Given the description of an element on the screen output the (x, y) to click on. 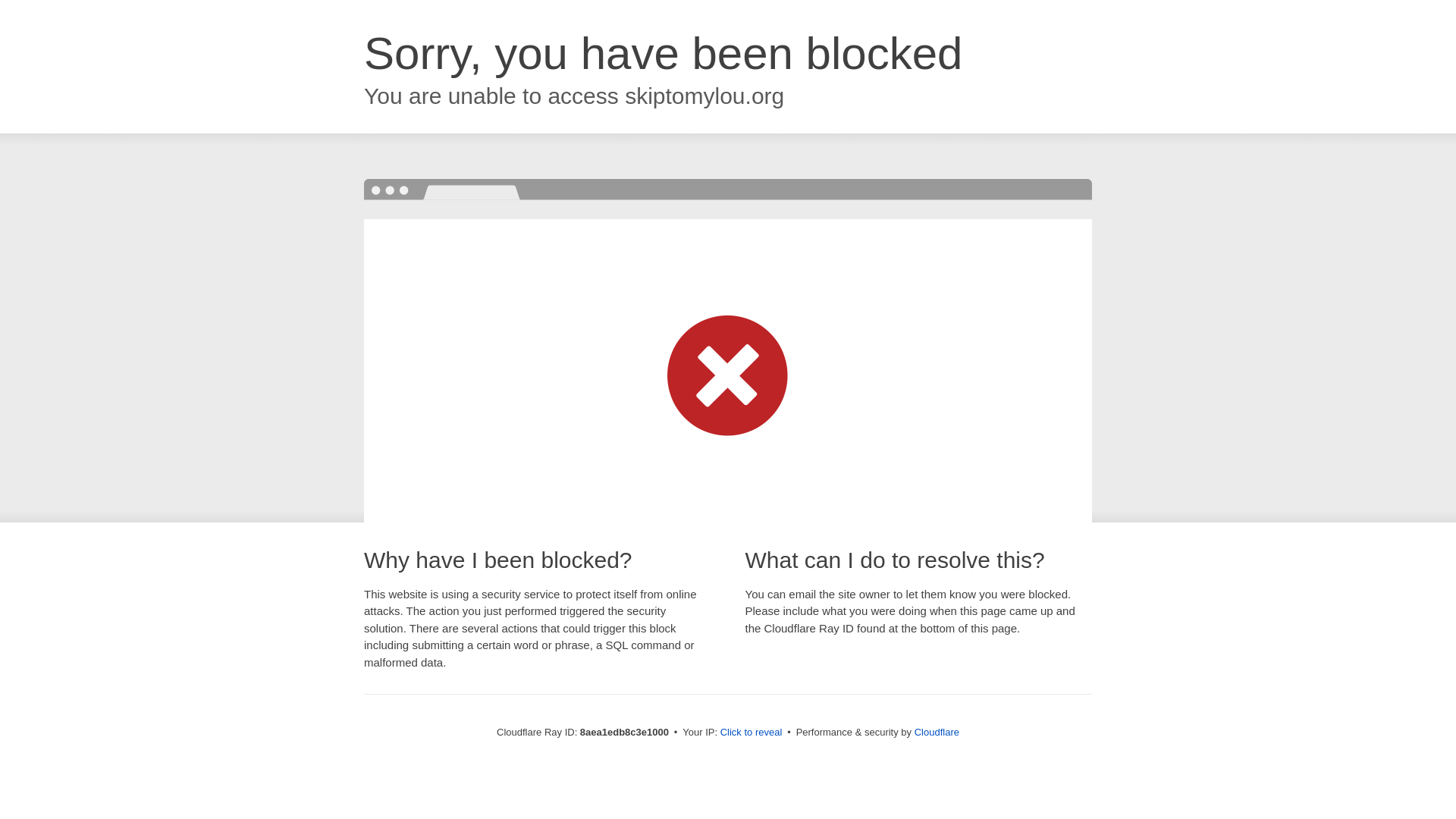
Click to reveal (751, 732)
Cloudflare (936, 731)
